Given the description of an element on the screen output the (x, y) to click on. 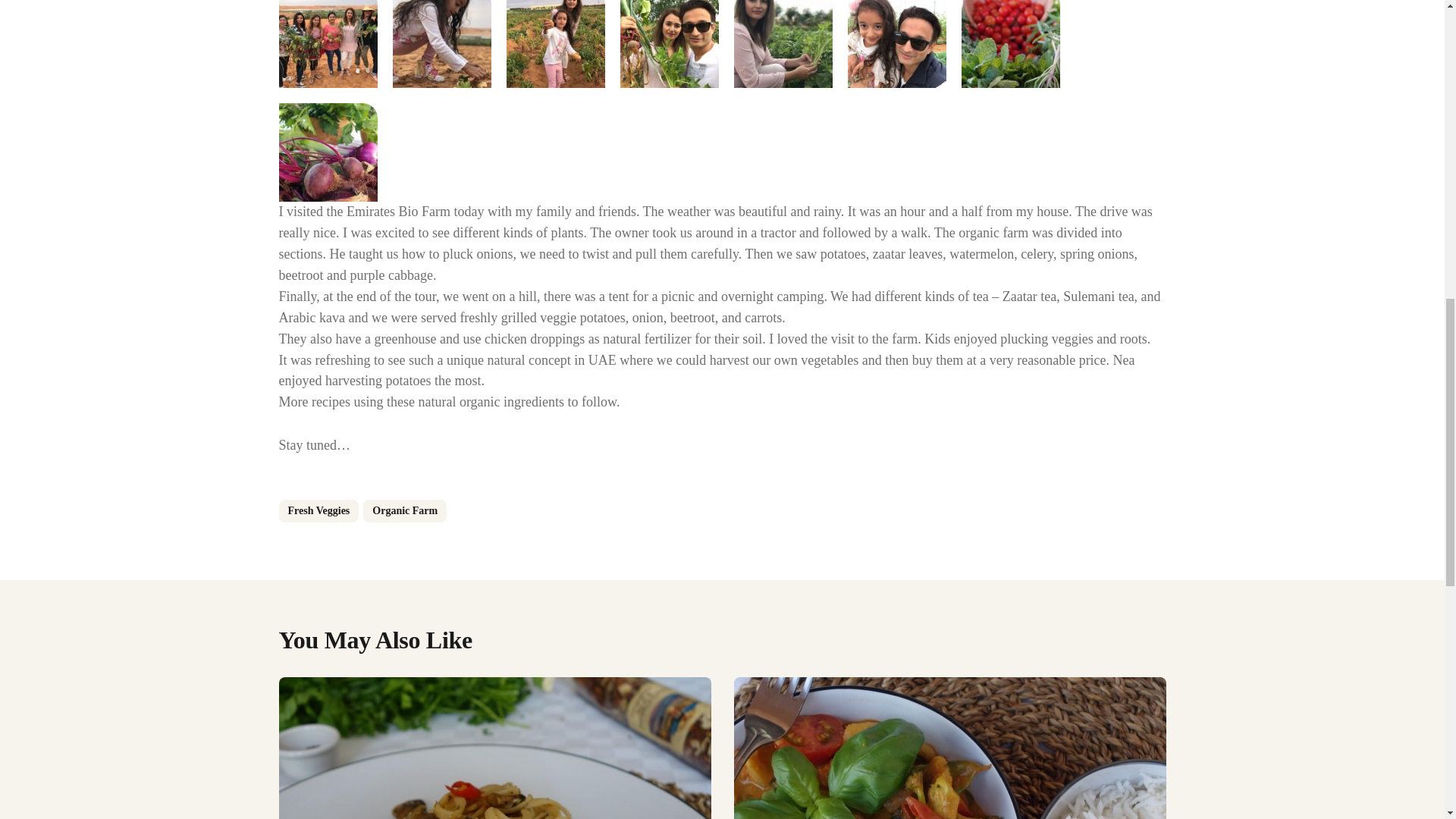
Fresh Veggies (319, 510)
Organic Farm (404, 510)
Emirates Bio Farm (896, 43)
Emirates Bio Farm (328, 152)
Emirates Bio Farm (1009, 43)
Emirates Bio Farm (669, 43)
Emirates Bio Farm (782, 43)
Emirates Bio Farm (442, 43)
Emirates Bio Farm (555, 43)
Emirates Bio Farm (328, 43)
